Given the description of an element on the screen output the (x, y) to click on. 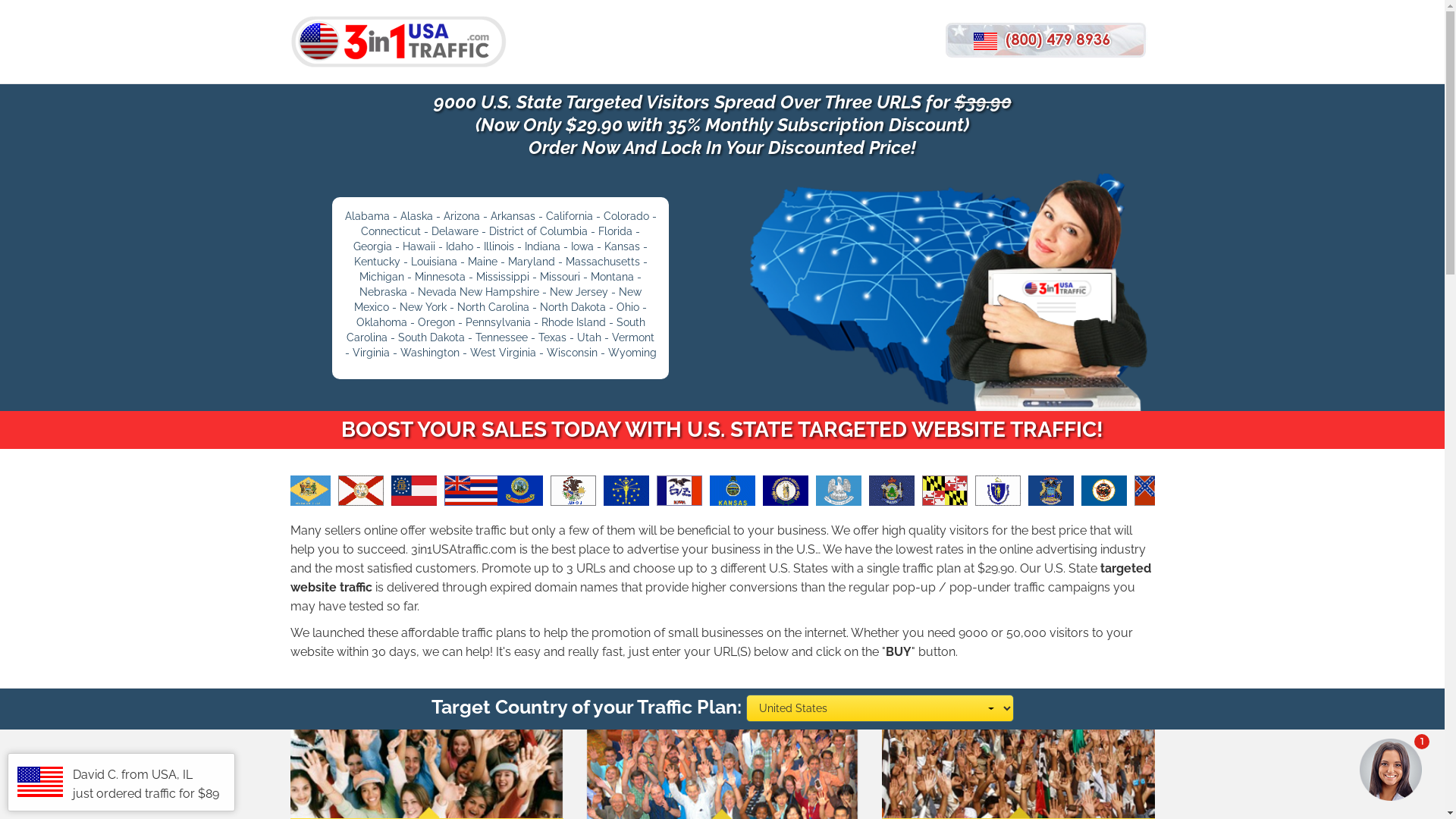
1 Element type: text (1316, 771)
